Given the description of an element on the screen output the (x, y) to click on. 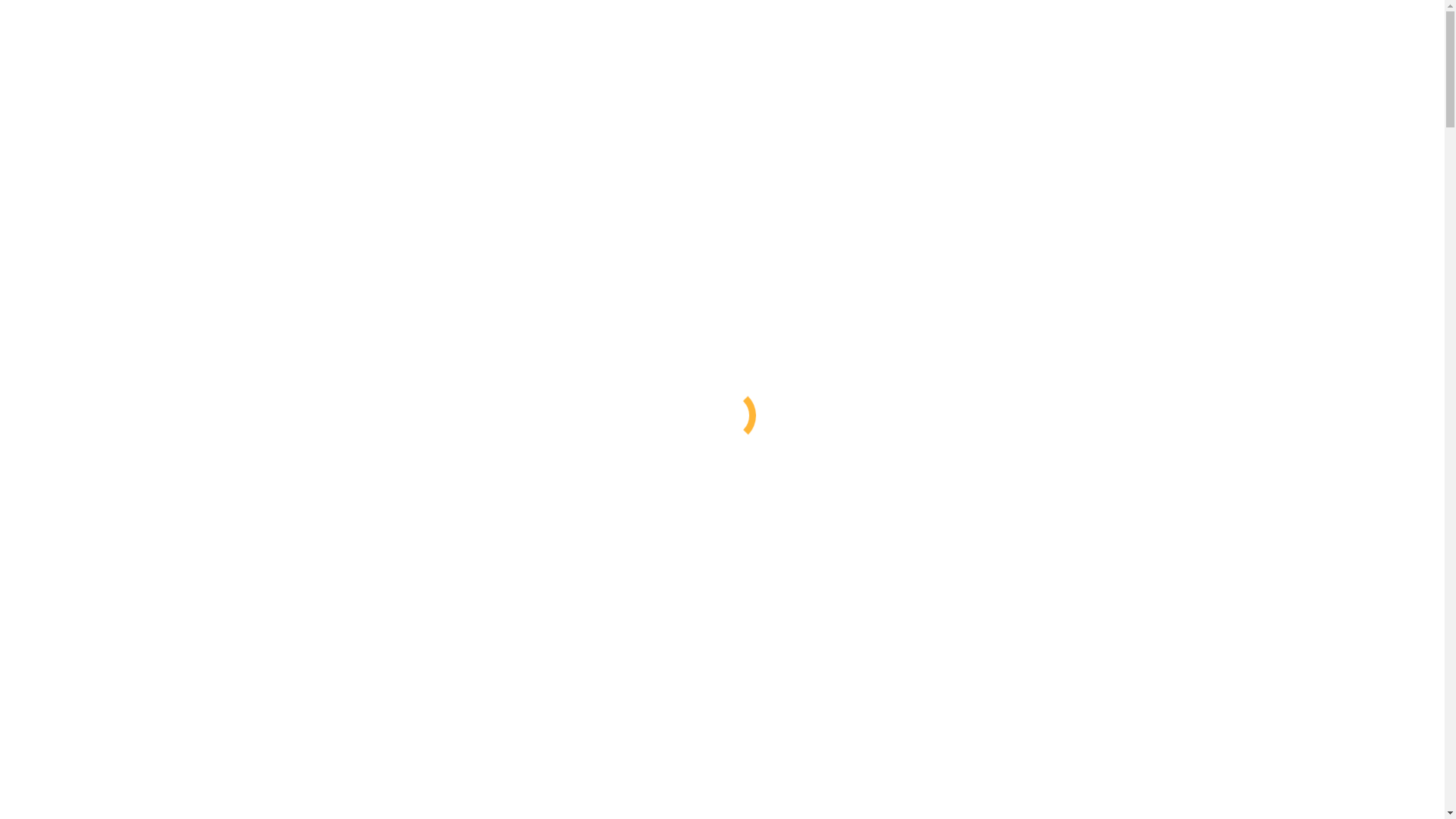
Board Members Element type: text (105, 406)
News Element type: text (80, 767)
About CDF Element type: text (74, 753)
Linkedin page opens in new window Element type: text (95, 39)
Interest Rates Element type: text (71, 556)
News Element type: text (80, 379)
Home Element type: text (53, 347)
Current Account Element type: text (106, 461)
SEARCH Element type: text (29, 677)
TAKE THE TWO MINUTE SURVEY Element type: text (88, 316)
Home Element type: text (53, 735)
Message from the Archbishop Element type: text (139, 781)
Contact Us Element type: text (65, 597)
Fixed Term Deposits Element type: text (117, 488)
Message from the Archbishop Element type: text (139, 392)
Identification Statements Element type: text (127, 433)
Product and Services Element type: text (89, 447)
About CDF Element type: text (74, 365)
CDF Online Element type: text (96, 501)
Take the Two Minute Survey Element type: text (592, 25)
Annual Reports Element type: text (104, 420)
Forms Element type: text (54, 570)
Board Members Element type: text (105, 794)
Annual Reports Element type: text (104, 808)
Mail page opens in new window Element type: text (263, 39)
Go! Element type: text (20, 709)
Cash Management Account Element type: text (133, 474)
Skip to content Element type: text (42, 12)
Transaction Services Element type: text (116, 529)
Other services Element type: text (101, 542)
Loans Element type: text (81, 515)
FAQ Element type: text (78, 624)
Our specialists Element type: text (102, 611)
Search form Element type: hover (73, 693)
Take the Two Minute Survey Element type: text (136, 638)
Links Element type: text (52, 583)
